Given the description of an element on the screen output the (x, y) to click on. 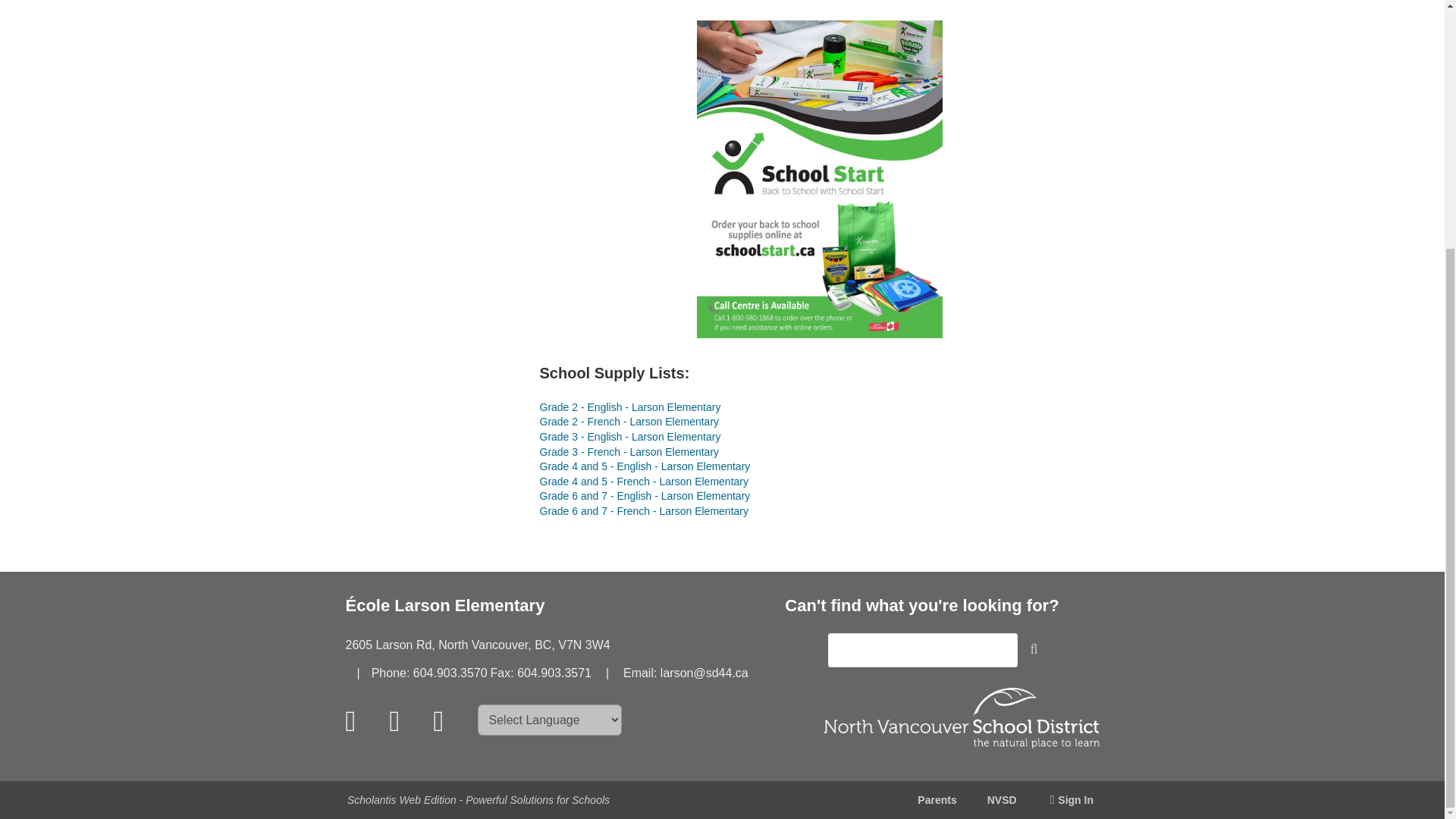
Search... (922, 650)
Search (1040, 652)
